Given the description of an element on the screen output the (x, y) to click on. 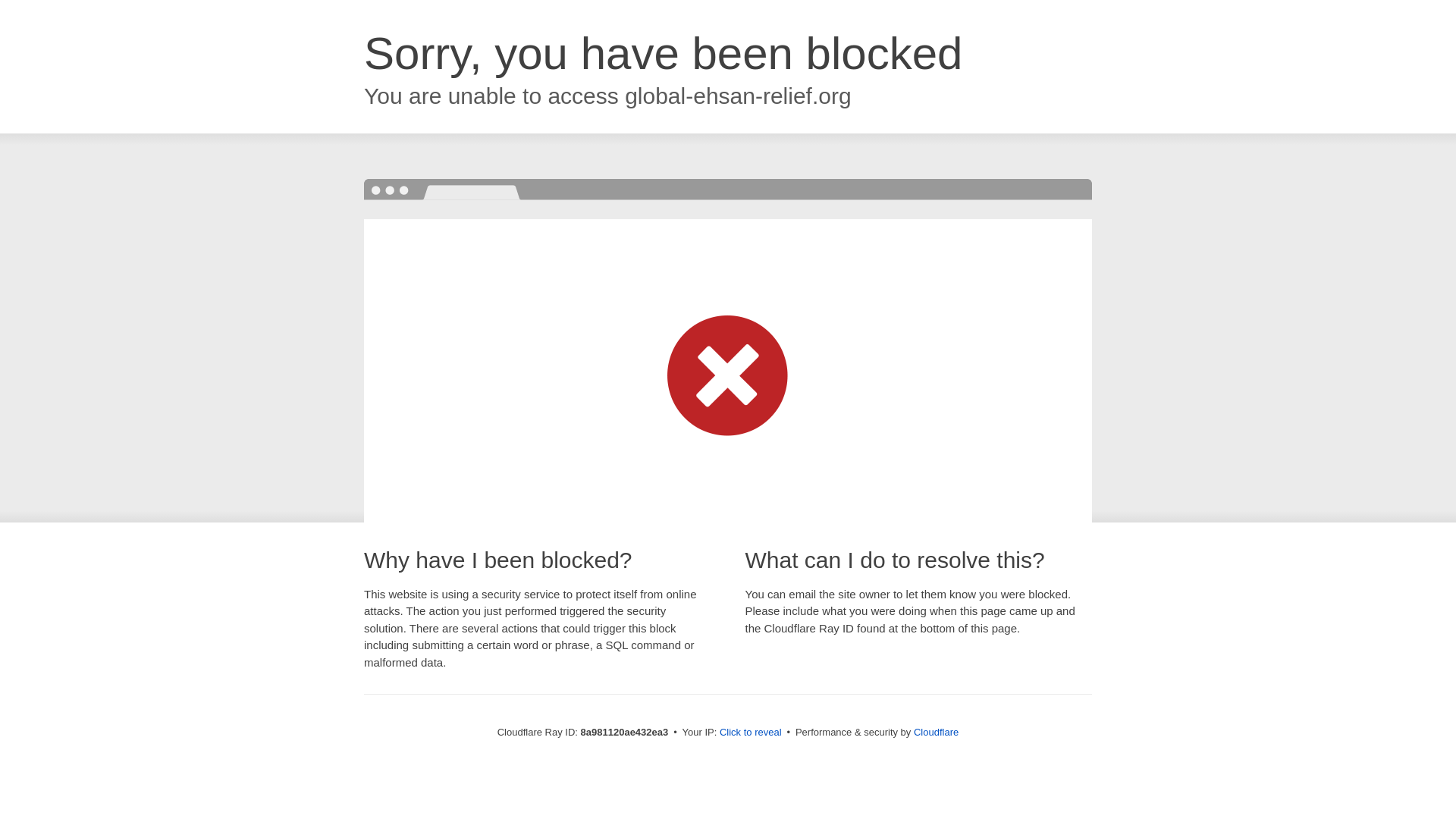
Click to reveal (750, 732)
Cloudflare (936, 731)
